Given the description of an element on the screen output the (x, y) to click on. 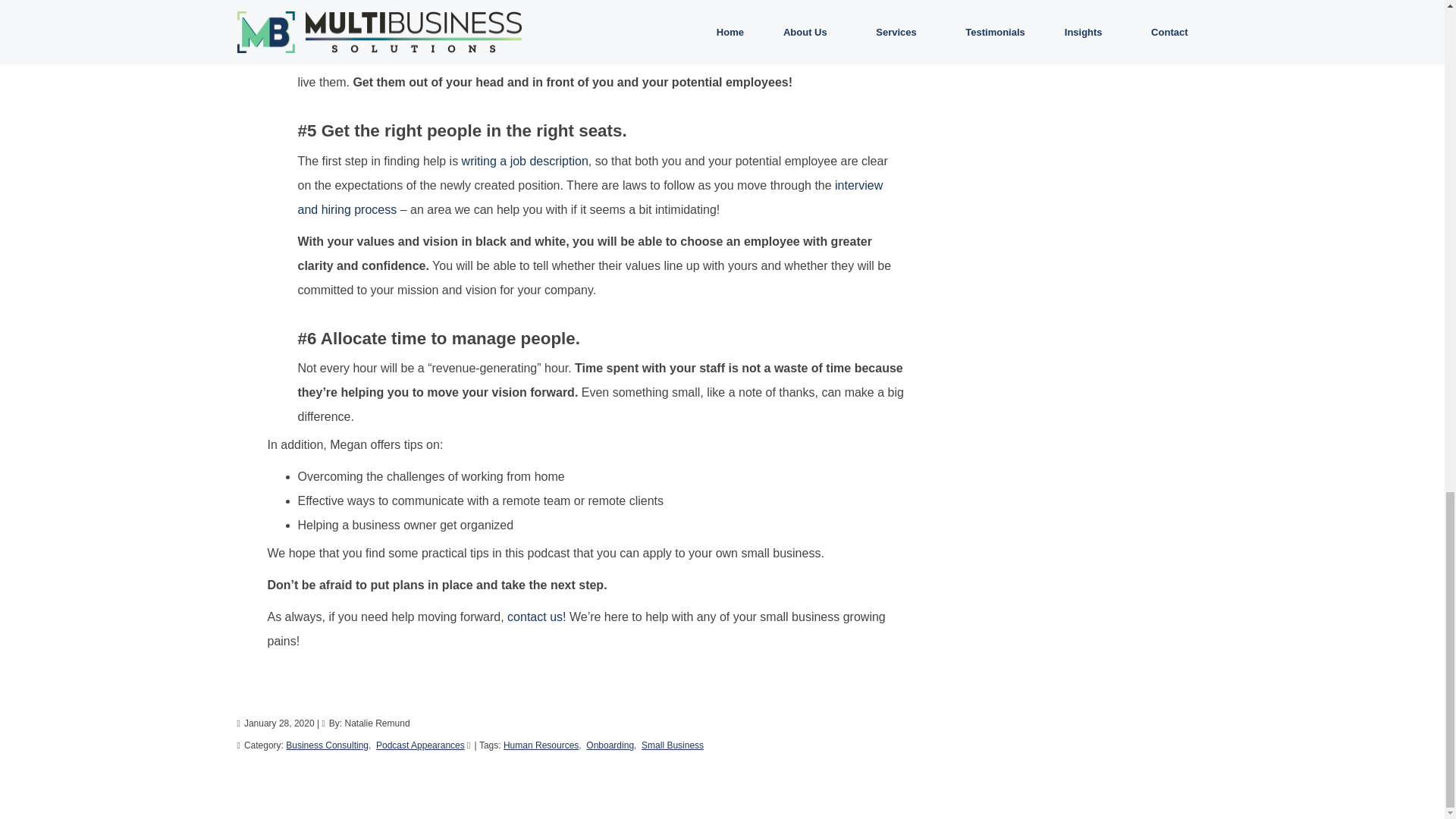
Human Resources (540, 745)
interview and hiring process (589, 197)
contact us! (536, 616)
Small Business (672, 745)
Podcast Appearances (419, 745)
Onboarding (609, 745)
writing a job description (524, 160)
Business Consulting (326, 745)
